Given the description of an element on the screen output the (x, y) to click on. 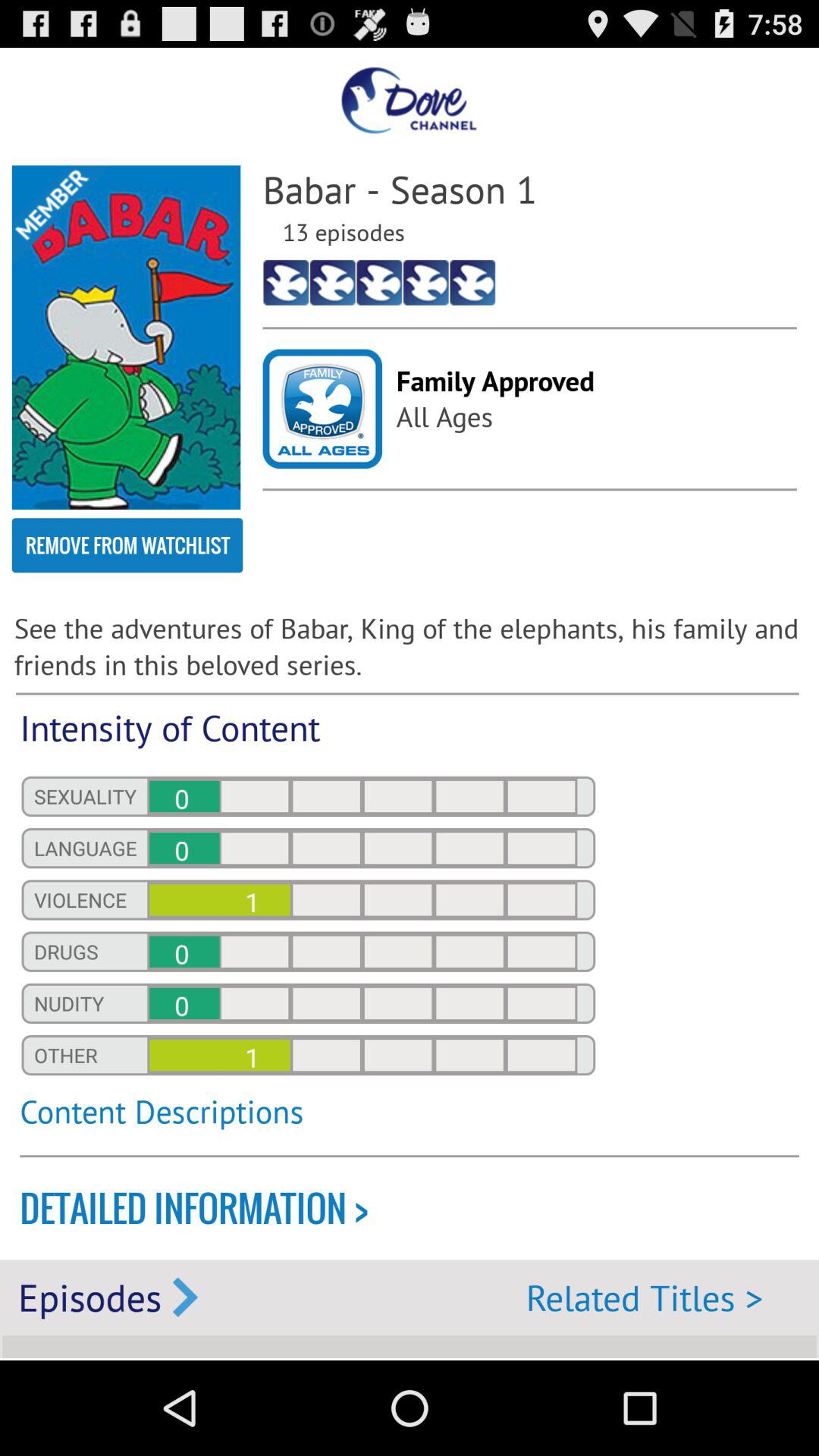
flip to the remove from watchlist (126, 545)
